Given the description of an element on the screen output the (x, y) to click on. 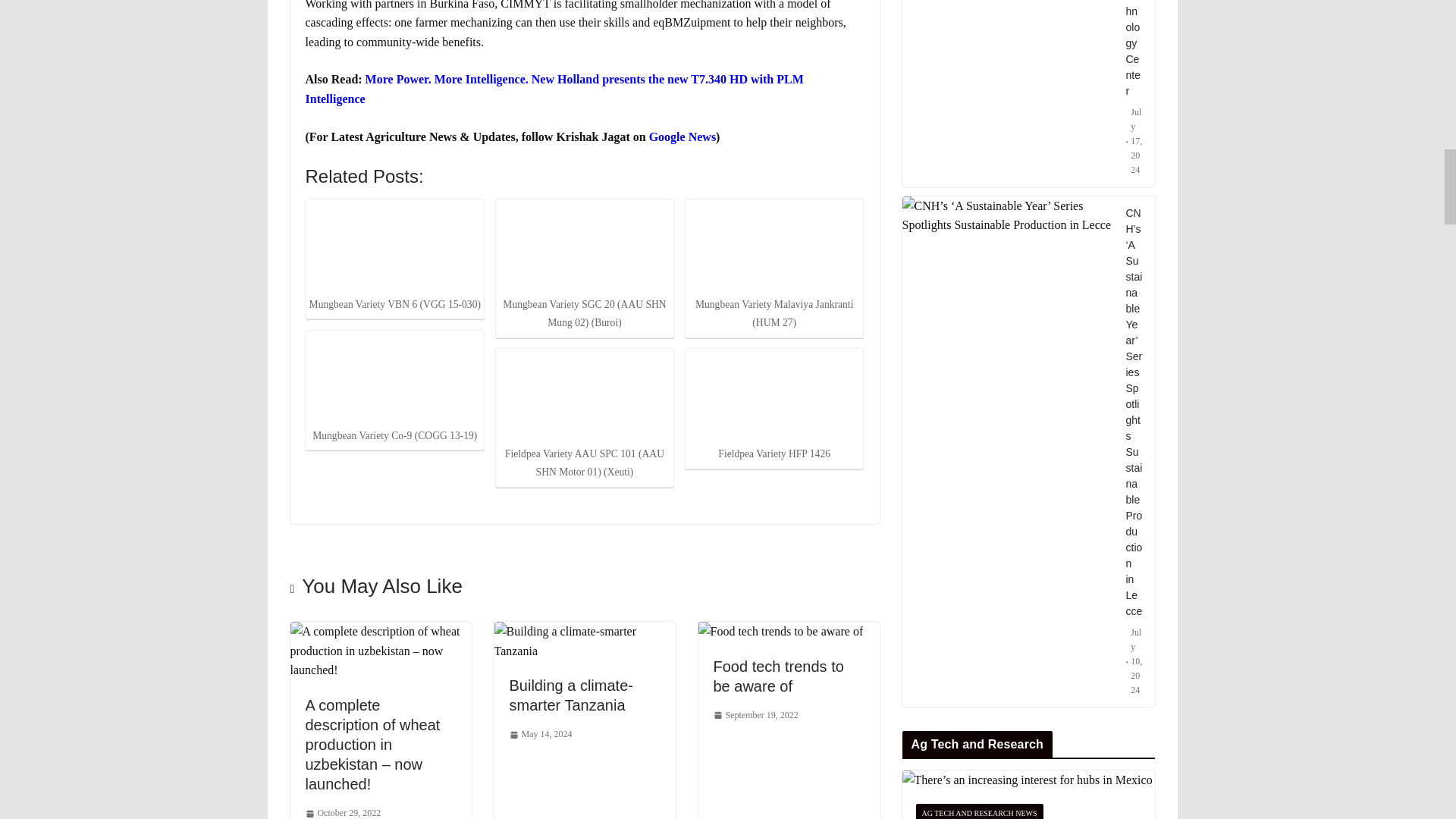
Fieldpea Variety HFP 1426 (774, 396)
